Given the description of an element on the screen output the (x, y) to click on. 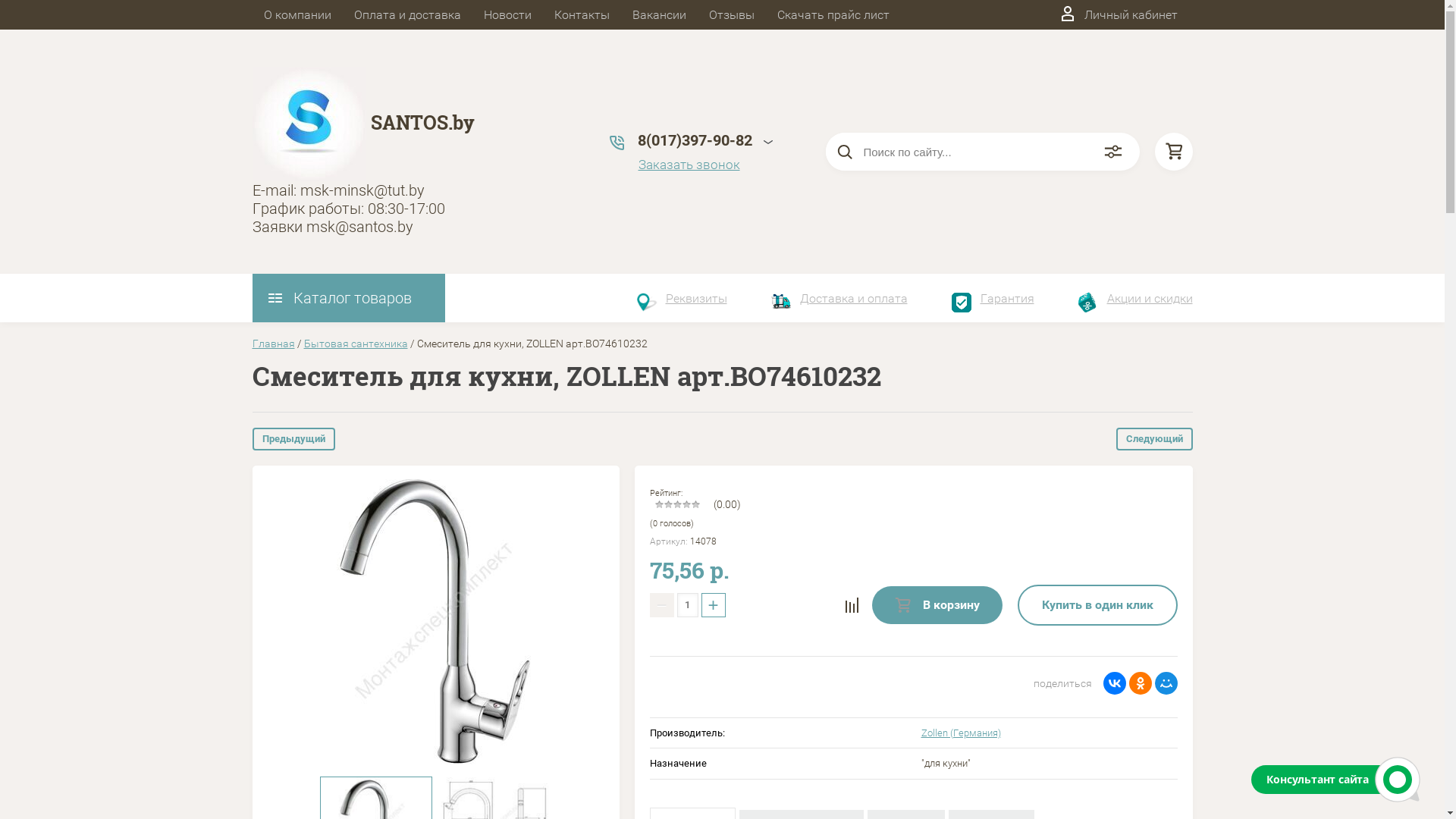
SANTOS.by Element type: text (421, 121)
+ Element type: text (712, 605)
8(017)397-90-82 Element type: text (694, 140)
